Given the description of an element on the screen output the (x, y) to click on. 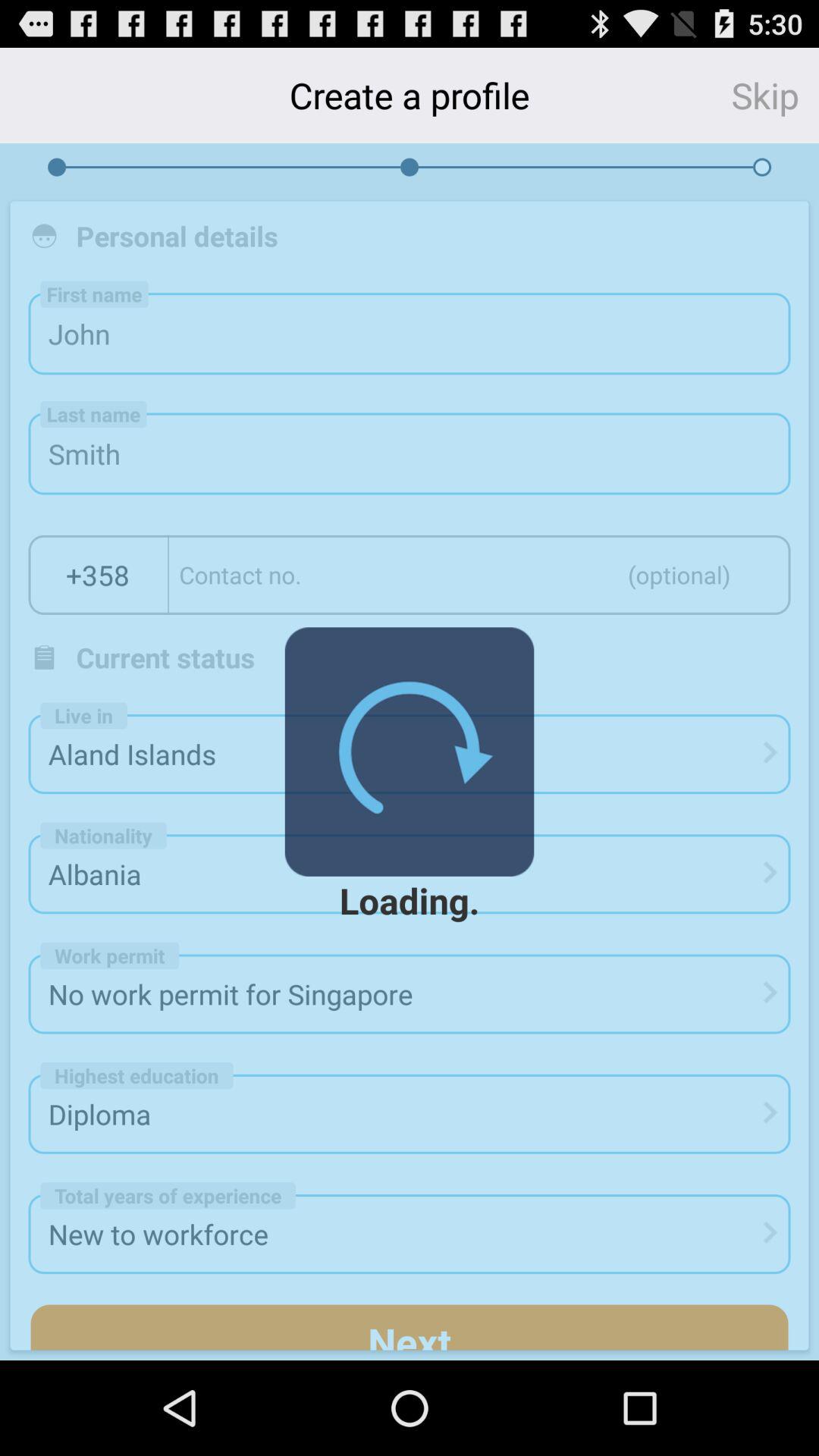
enter contact number (479, 574)
